Given the description of an element on the screen output the (x, y) to click on. 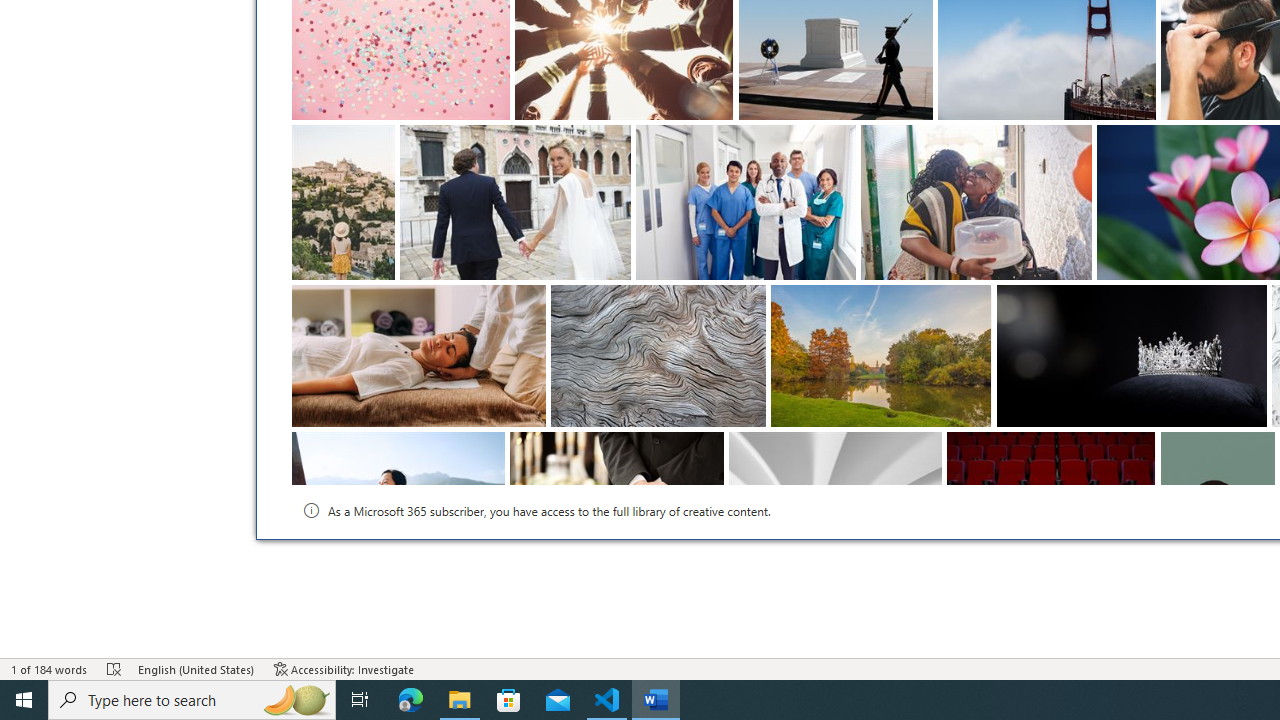
Search highlights icon opens search home window (295, 699)
Language English (United States) (196, 668)
Word Count 1 of 184 words (49, 668)
Spelling and Grammar Check Errors (114, 668)
Visual Studio Code - 1 running window (607, 699)
Thumbnail (1259, 447)
Type here to search (191, 699)
